Given the description of an element on the screen output the (x, y) to click on. 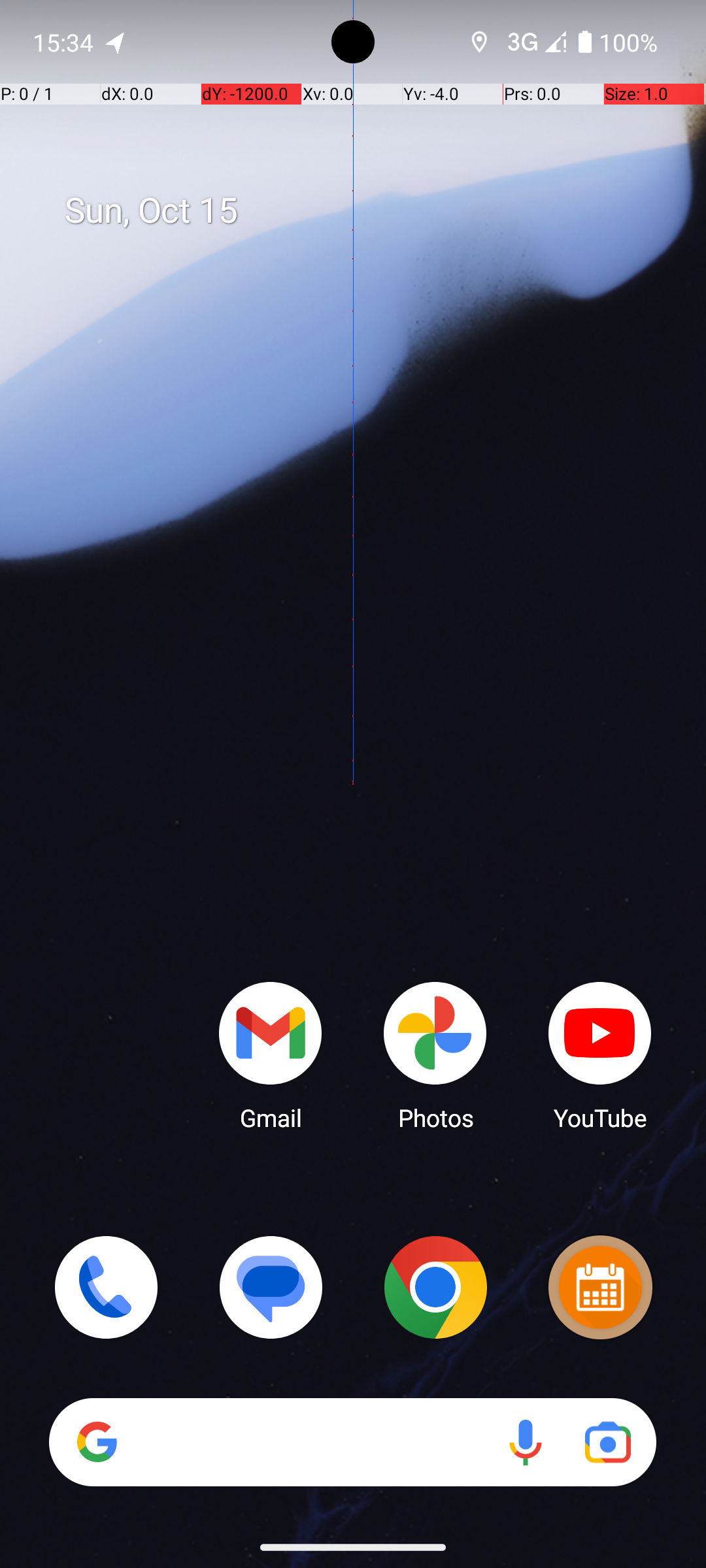
Home Element type: android.view.View (353, 804)
Phone Element type: android.widget.TextView (105, 1287)
Messages Element type: android.widget.TextView (270, 1287)
Chrome Element type: android.widget.TextView (435, 1287)
Calendar Element type: android.widget.TextView (599, 1287)
Search Element type: android.widget.FrameLayout (352, 1442)
Sun, Oct 15 Element type: android.widget.TextView (366, 210)
Gmail Element type: android.widget.TextView (270, 1054)
Photos Element type: android.widget.TextView (435, 1054)
YouTube Element type: android.widget.TextView (599, 1054)
Google app Element type: android.widget.ImageView (97, 1441)
Voice search Element type: android.widget.ImageView (525, 1442)
Google Lens Element type: android.widget.ImageButton (607, 1442)
OpenTracks notification: Distance: 0.00 ft Element type: android.widget.ImageView (115, 41)
Location requests active Element type: android.widget.ImageView (479, 41)
